Given the description of an element on the screen output the (x, y) to click on. 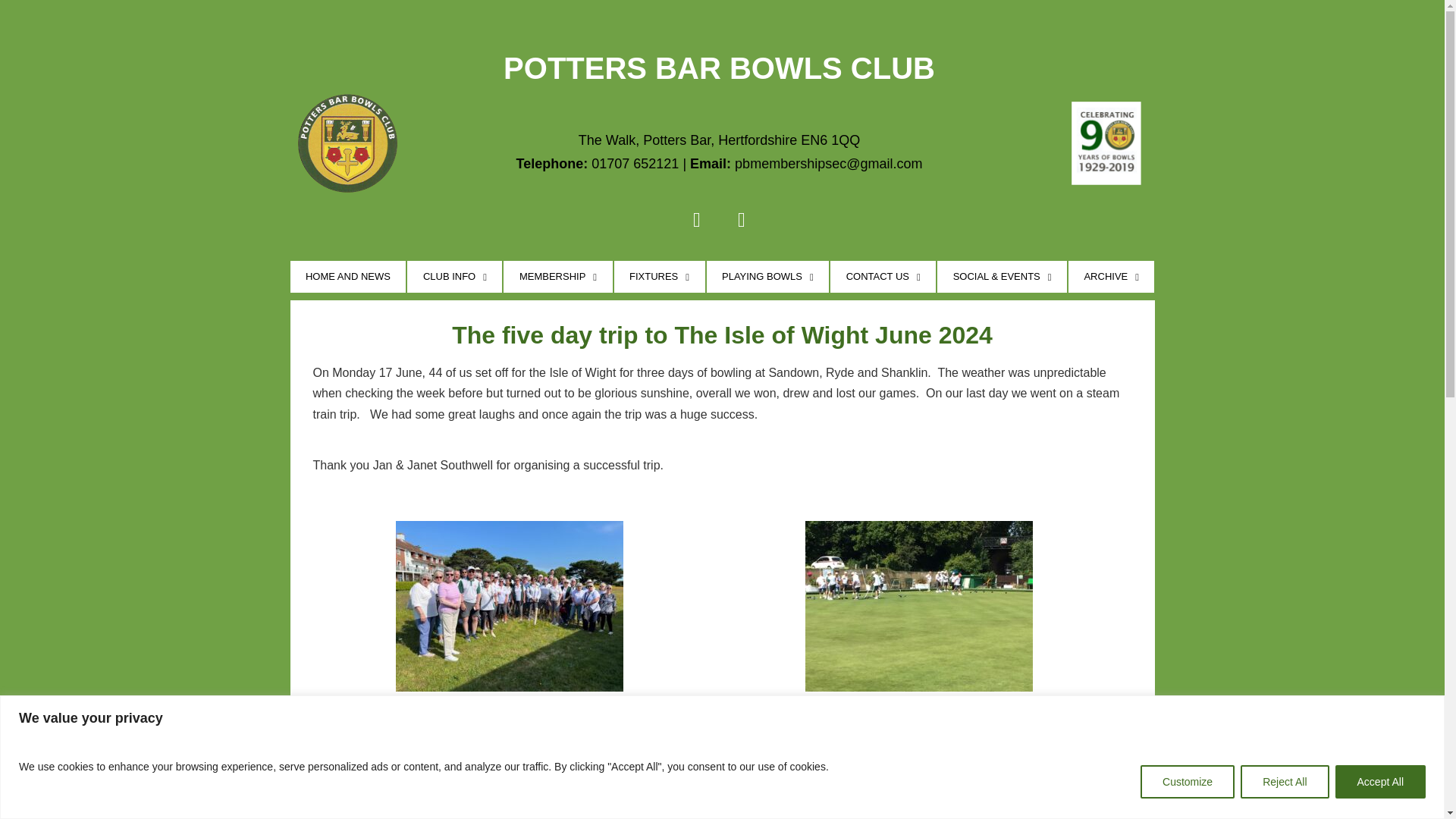
FIXTURES (659, 276)
MEMBERSHIP (557, 276)
CLUB INFO (454, 276)
Customize (1187, 780)
Skip to content (11, 31)
Accept All (1380, 780)
Reject All (1283, 780)
HOME AND NEWS (347, 276)
